Given the description of an element on the screen output the (x, y) to click on. 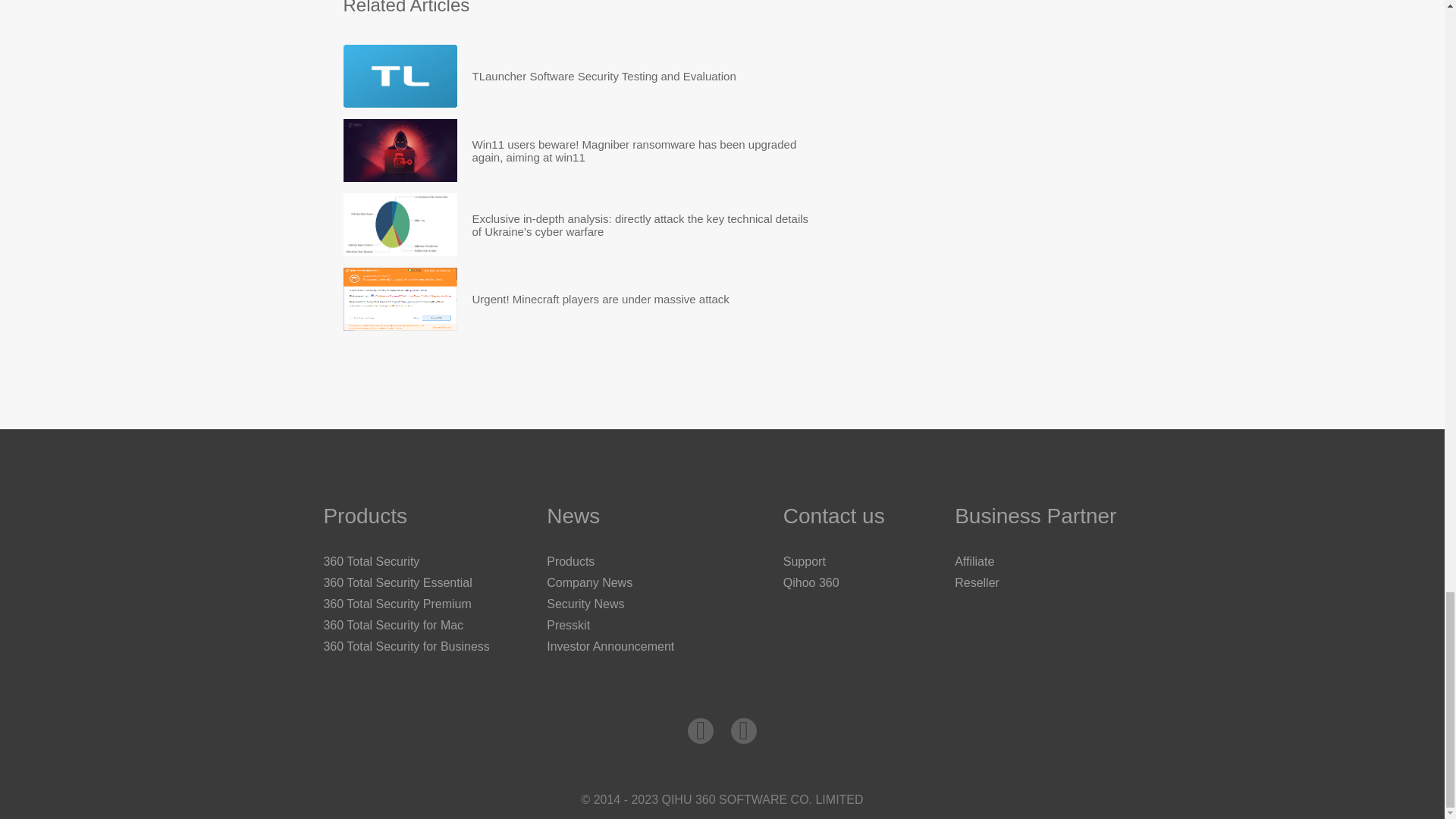
Urgent! Minecraft players are under massive attack (600, 298)
Urgent! Minecraft players are under massive attack (600, 298)
TLauncher Software Security Testing and Evaluation (399, 76)
TLauncher Software Security Testing and Evaluation (603, 76)
TLauncher Software Security Testing and Evaluation (603, 76)
360 Total Security (371, 561)
360 Total Security Essential (397, 582)
